Given the description of an element on the screen output the (x, y) to click on. 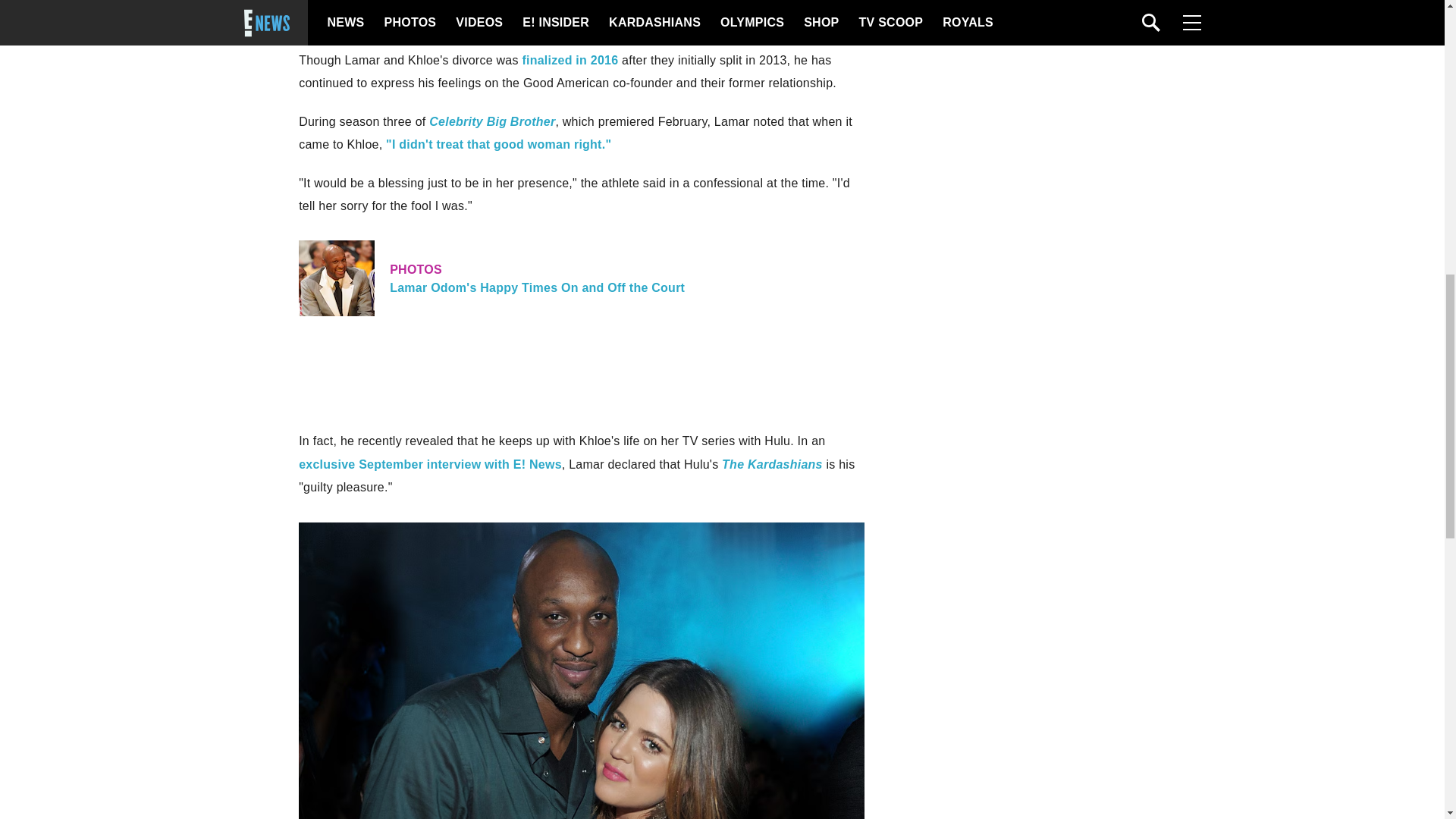
exclusive September interview with E! News (430, 463)
finalized in 2016 (569, 60)
"I didn't treat that good woman right." (498, 144)
Celebrity Big Brother (491, 121)
The Kardashians (772, 463)
